Given the description of an element on the screen output the (x, y) to click on. 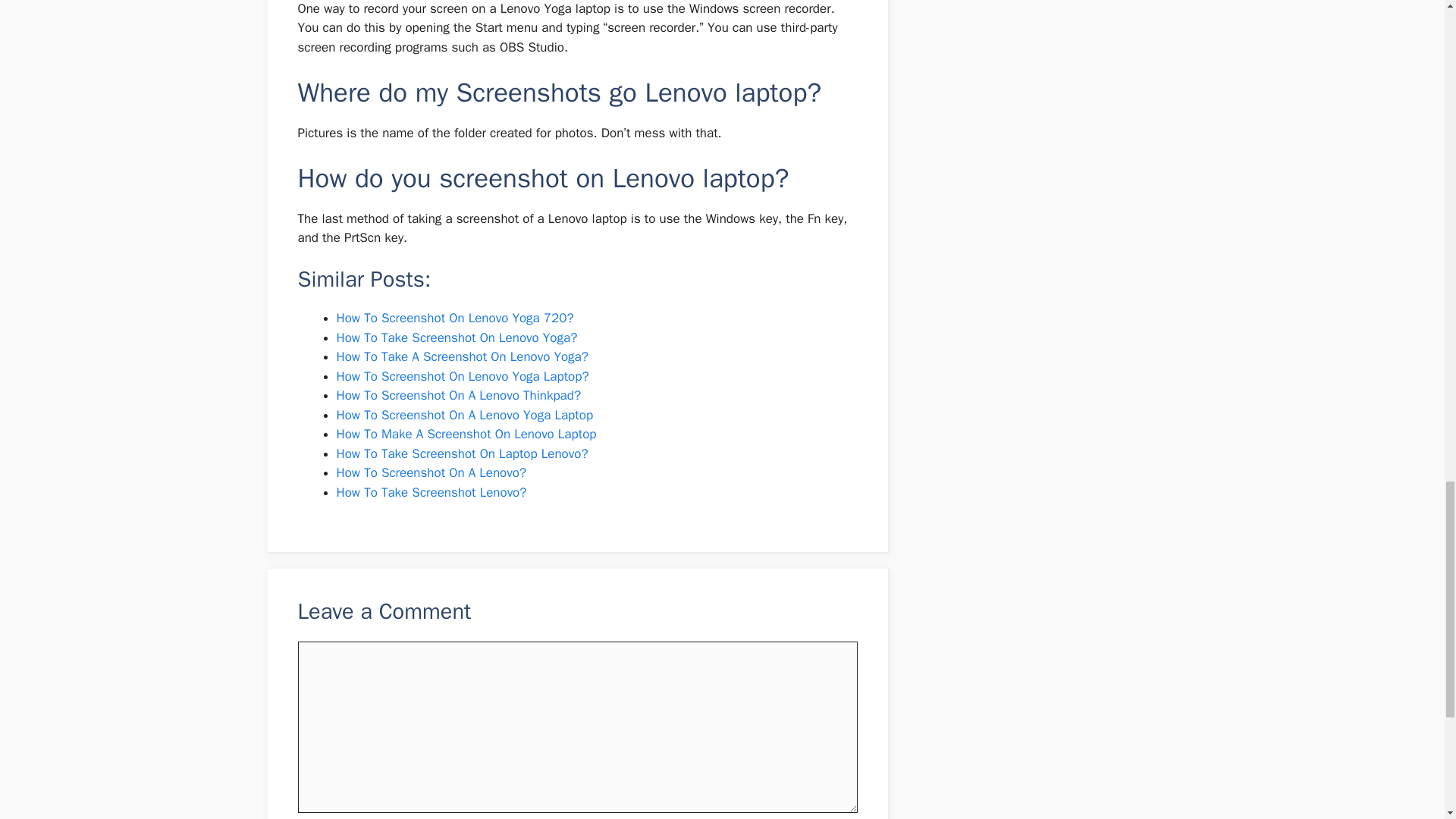
How To Screenshot On Lenovo Yoga Laptop? (462, 376)
How To Take Screenshot Lenovo? (431, 492)
How To Take A Screenshot On Lenovo Yoga? (462, 356)
How To Screenshot On Lenovo Yoga Laptop? (462, 376)
How To Take Screenshot On Lenovo Yoga? (457, 337)
How To Screenshot On Lenovo Yoga 720? (454, 317)
How To Take Screenshot Lenovo? (431, 492)
How To Make A Screenshot On Lenovo Laptop (466, 433)
How To Screenshot On A Lenovo Yoga Laptop (465, 415)
How To Make A Screenshot On Lenovo Laptop (466, 433)
How To Screenshot On A Lenovo Yoga Laptop (465, 415)
How To Screenshot On A Lenovo Thinkpad? (458, 395)
How To Take A Screenshot On Lenovo Yoga? (462, 356)
How To Take Screenshot On Laptop Lenovo? (462, 453)
How To Screenshot On A Lenovo Thinkpad? (458, 395)
